Given the description of an element on the screen output the (x, y) to click on. 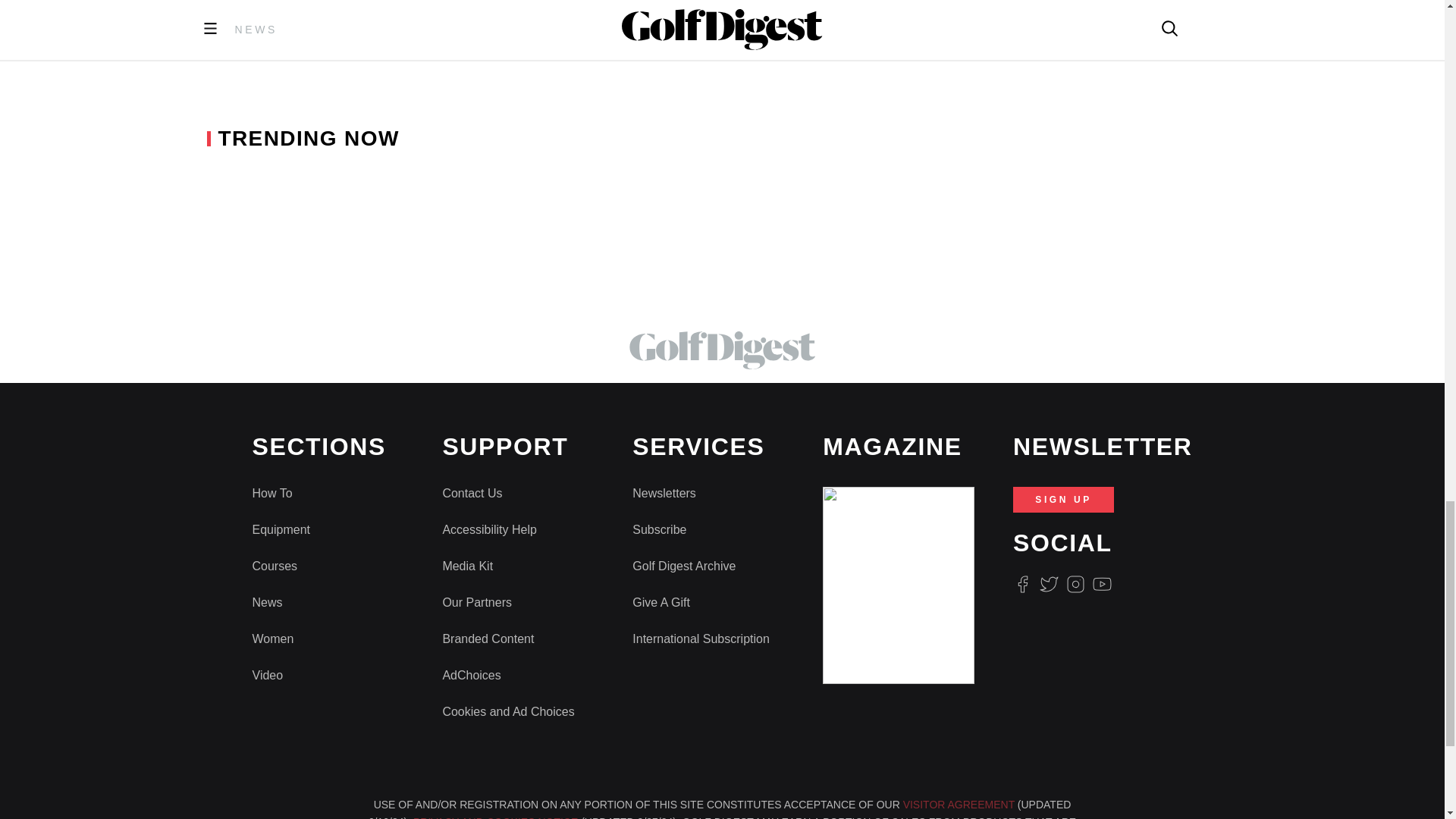
Instagram Logo (1074, 583)
Twitter Logo (1048, 583)
Youtube Icon (1102, 583)
Facebook Logo (1022, 583)
